Given the description of an element on the screen output the (x, y) to click on. 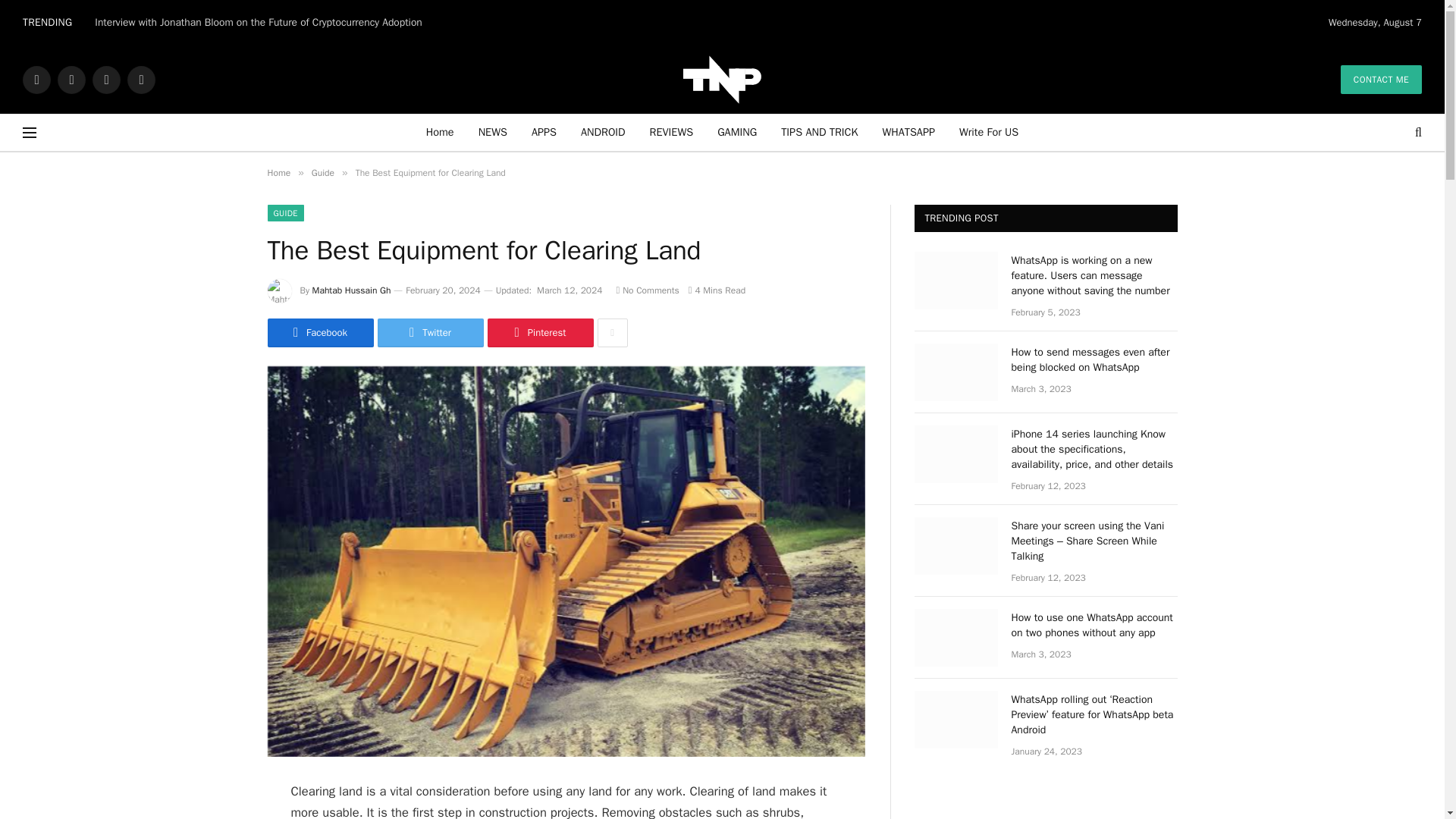
APPS (544, 132)
Write For US (988, 132)
Home (439, 132)
Share on Pinterest (539, 332)
Show More Social Sharing (611, 332)
REVIEWS (671, 132)
Facebook (36, 79)
ANDROID (603, 132)
GAMING (736, 132)
